Given the description of an element on the screen output the (x, y) to click on. 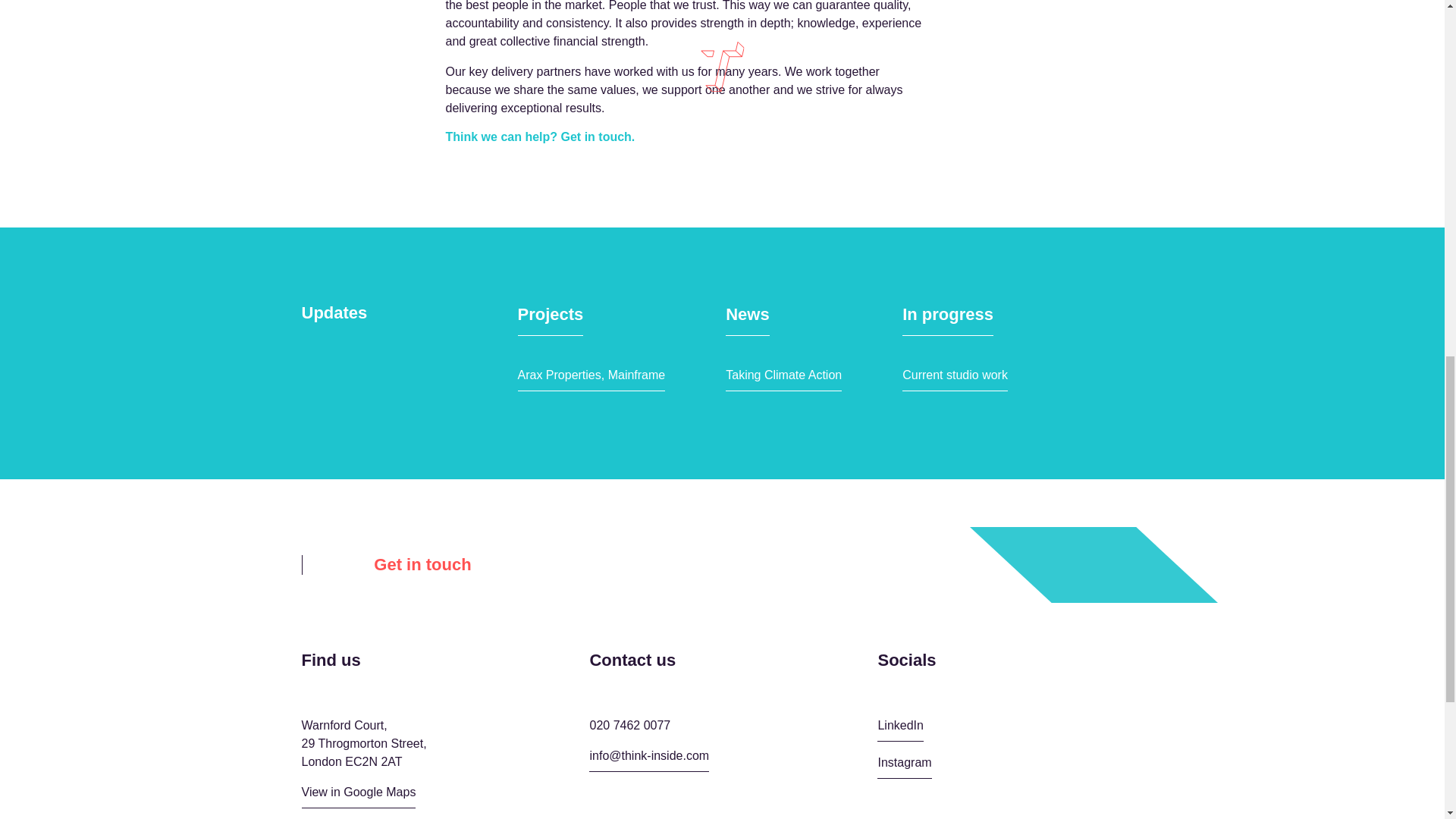
Taking Climate Action (783, 378)
Current studio work (954, 378)
Think we can help? Get in touch. (539, 136)
Arax Properties, Mainframe (590, 378)
LinkedIn (900, 729)
In progress (947, 319)
News (746, 319)
Instagram (904, 765)
View in Google Maps (358, 795)
Projects (549, 319)
